Given the description of an element on the screen output the (x, y) to click on. 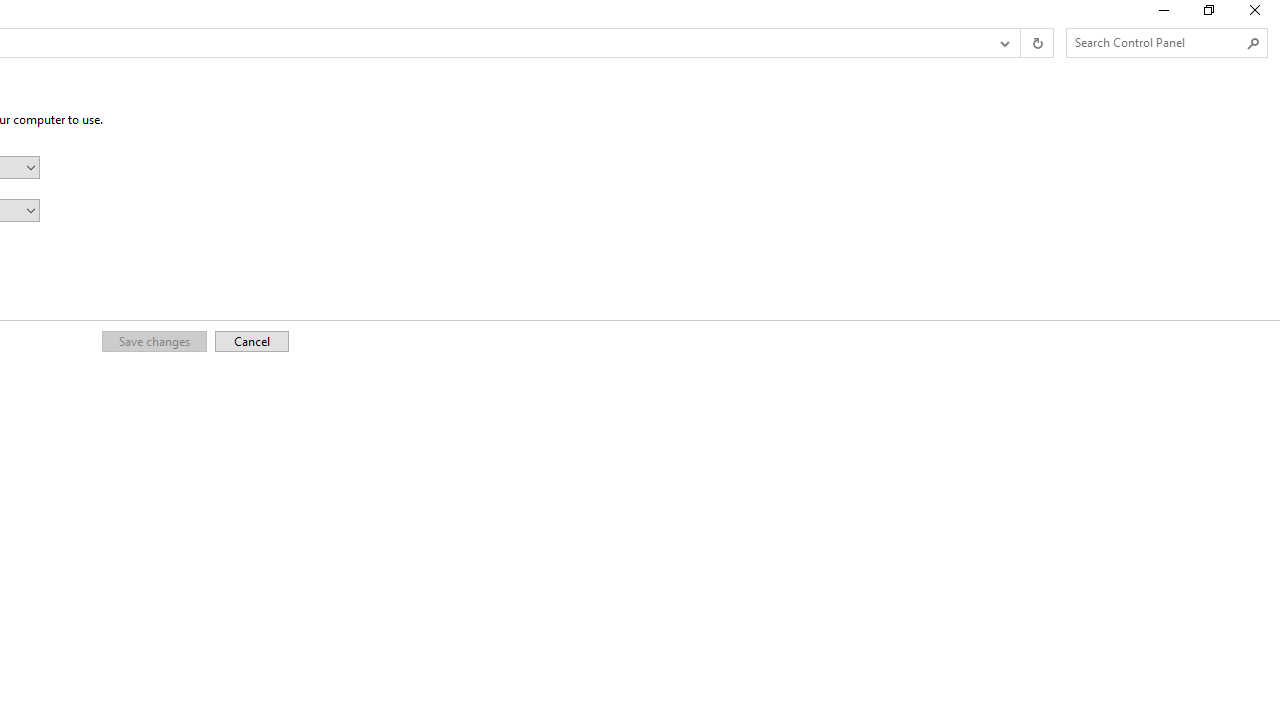
Search Box (1156, 42)
Cancel (251, 340)
Address band toolbar (1019, 43)
Previous Locations (1003, 43)
Search (1253, 43)
Refresh "Edit Plan Settings" (F5) (1036, 43)
Minimize (1162, 14)
Open (31, 210)
Restore (1208, 14)
Save changes (154, 340)
